Given the description of an element on the screen output the (x, y) to click on. 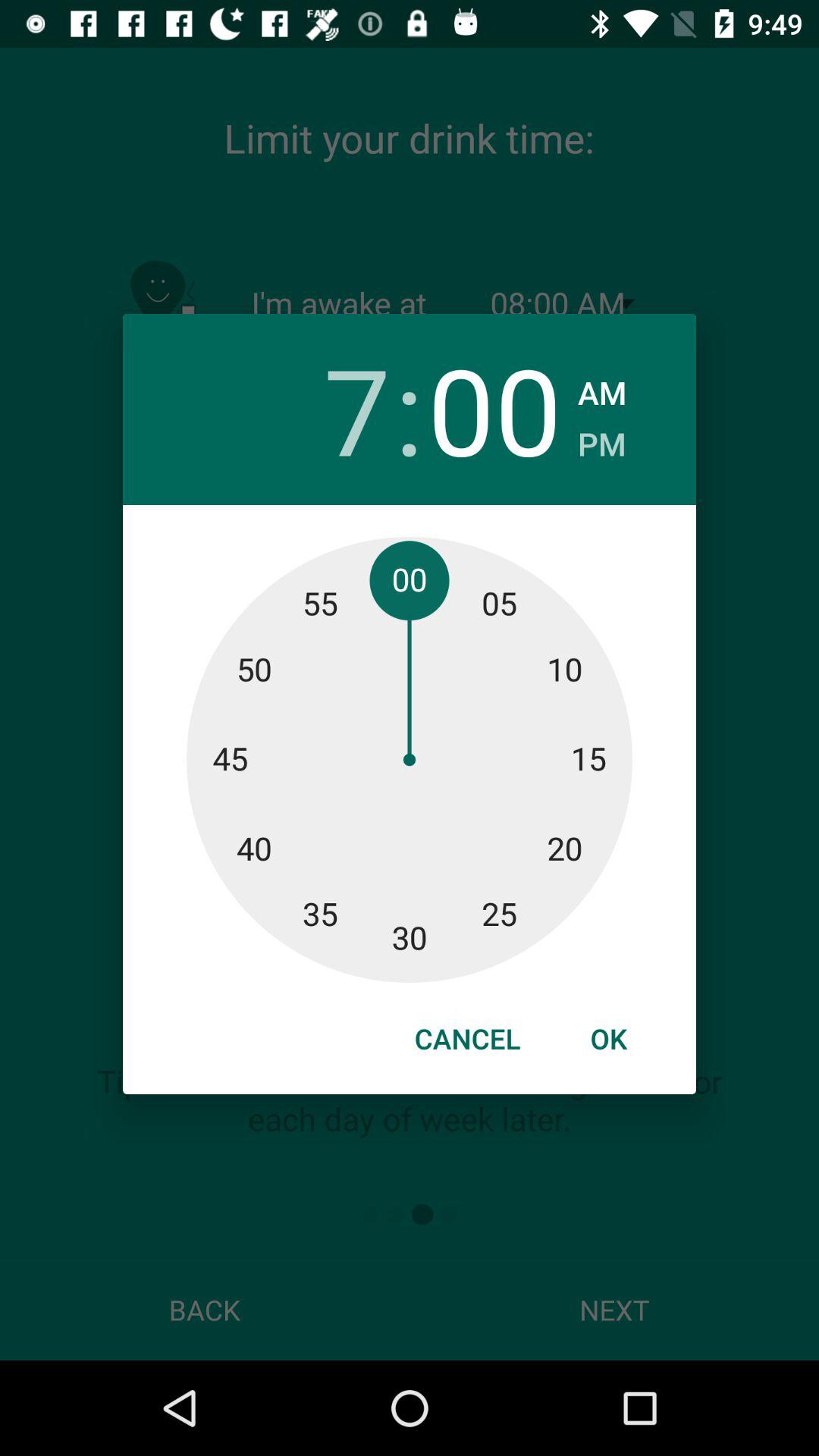
press the app to the right of the 00 icon (601, 388)
